Given the description of an element on the screen output the (x, y) to click on. 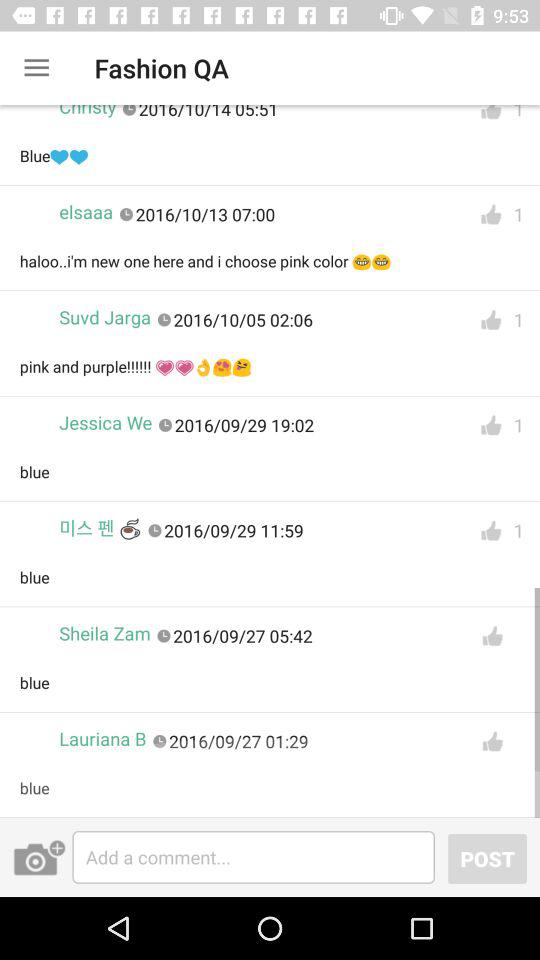
like comment (491, 530)
